Given the description of an element on the screen output the (x, y) to click on. 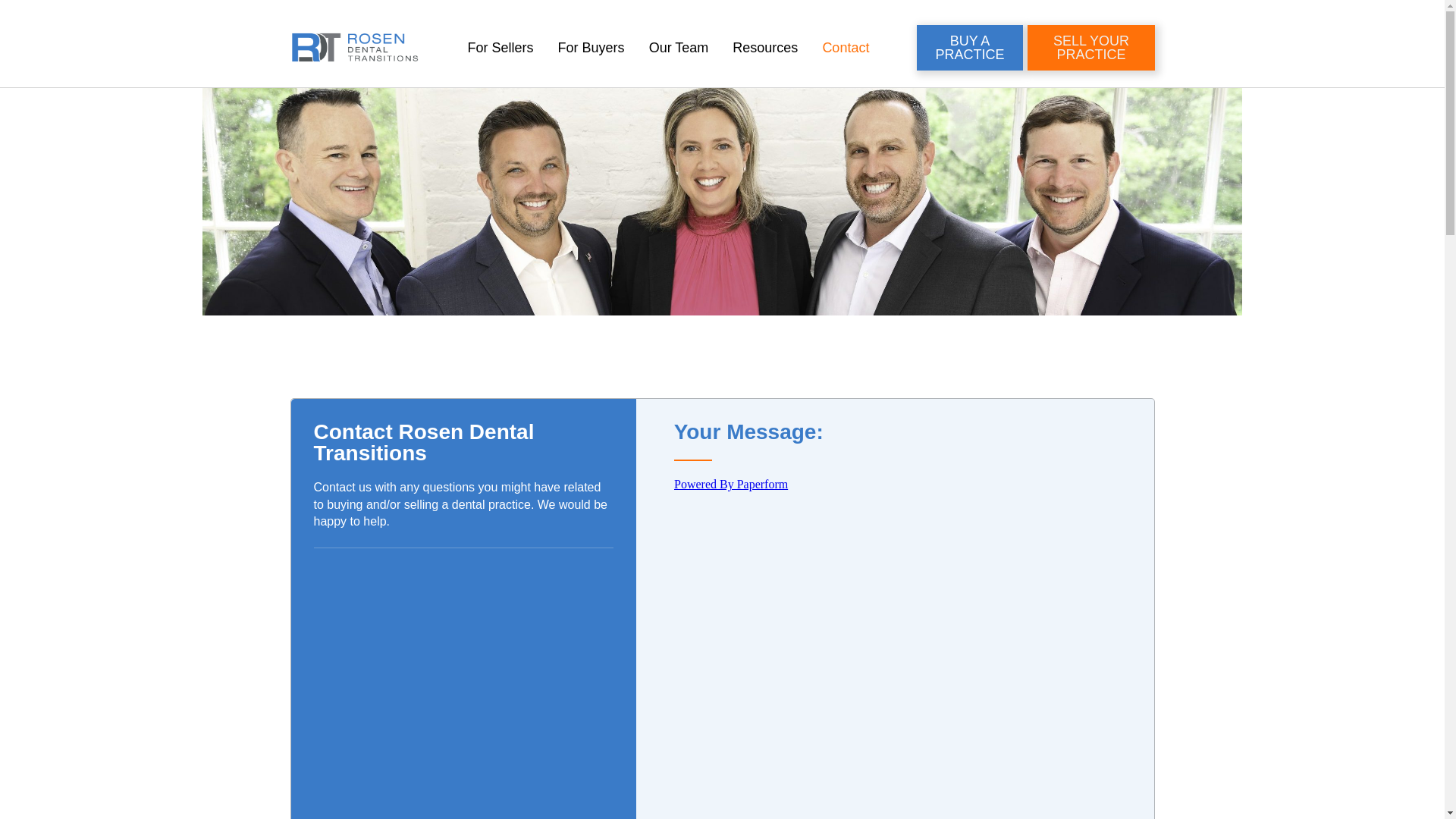
For Sellers (500, 47)
Contact (844, 47)
BUY A PRACTICE (969, 46)
Embedded form (902, 591)
Resources (764, 47)
Our Team (678, 47)
For Buyers (591, 47)
SELL YOUR PRACTICE (1090, 46)
